Given the description of an element on the screen output the (x, y) to click on. 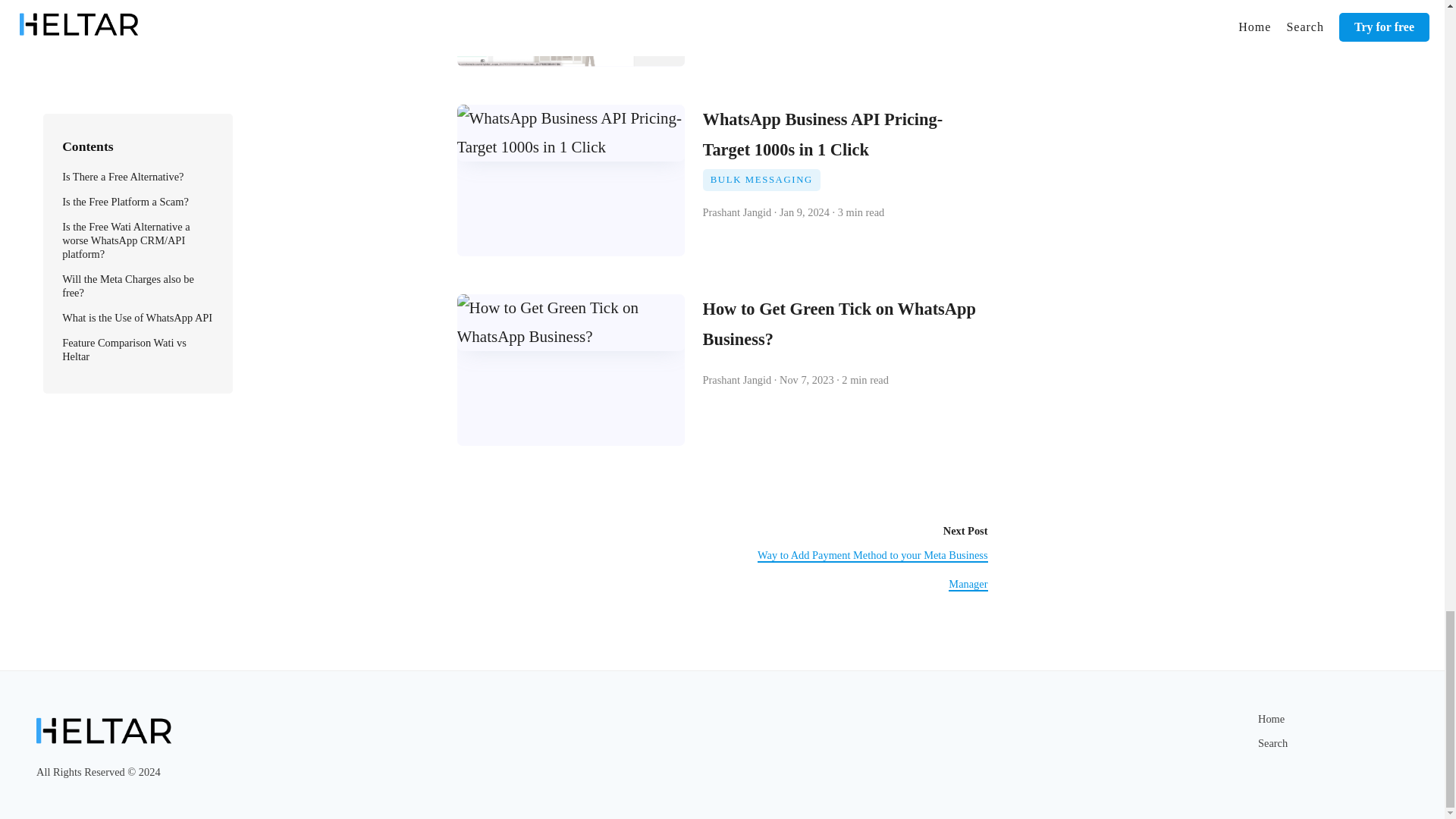
Search (1272, 743)
Home (1270, 718)
Way to Add Payment Method to your Meta Business Manager (872, 569)
